Given the description of an element on the screen output the (x, y) to click on. 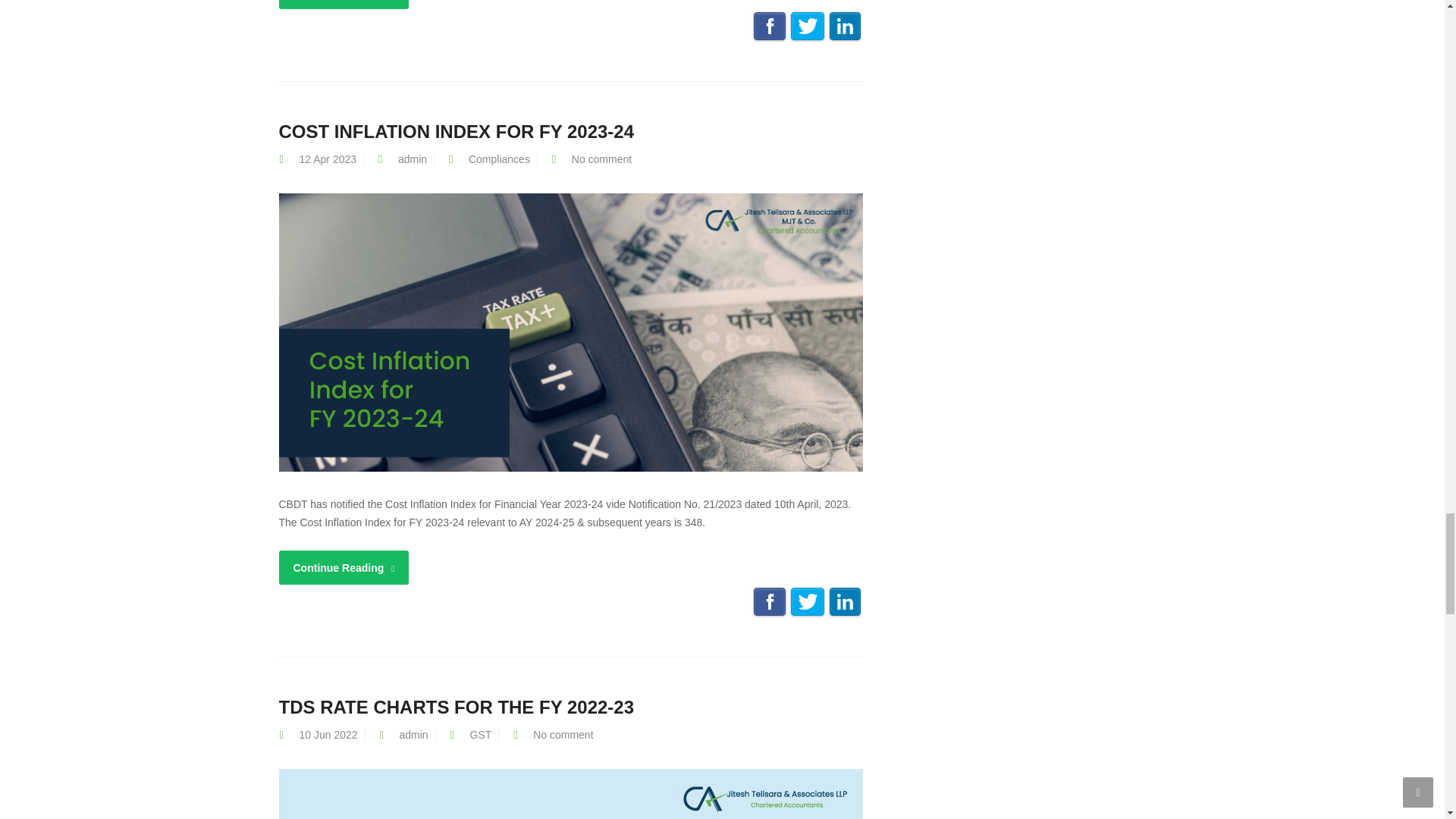
View all posts by admin (411, 159)
View all posts by admin (413, 734)
